Given the description of an element on the screen output the (x, y) to click on. 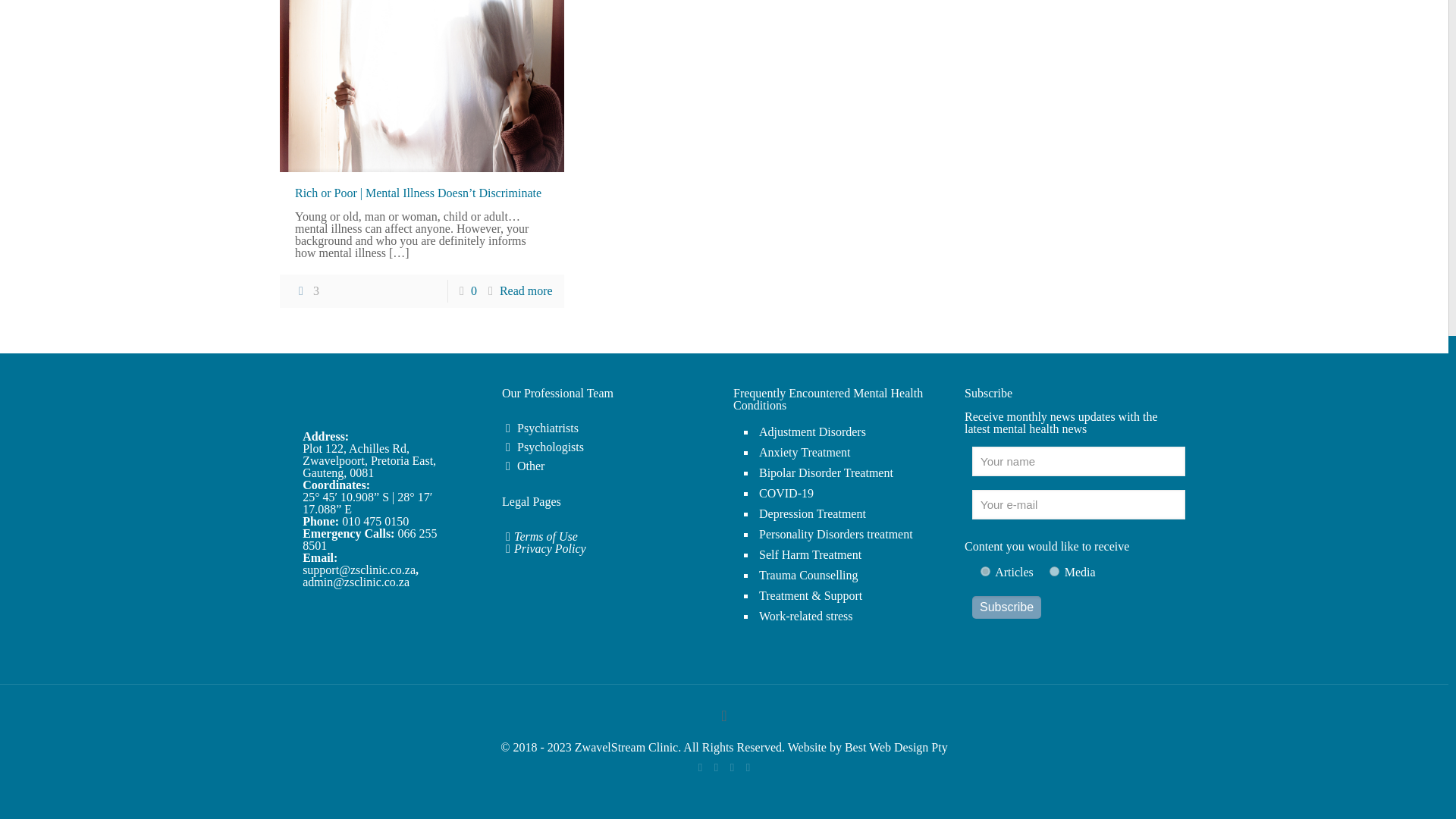
Facebook (700, 767)
Instagram (748, 767)
Articles (984, 571)
YouTube (716, 767)
LinkedIn (732, 767)
Subscribe (1006, 607)
Media (1054, 571)
